Given the description of an element on the screen output the (x, y) to click on. 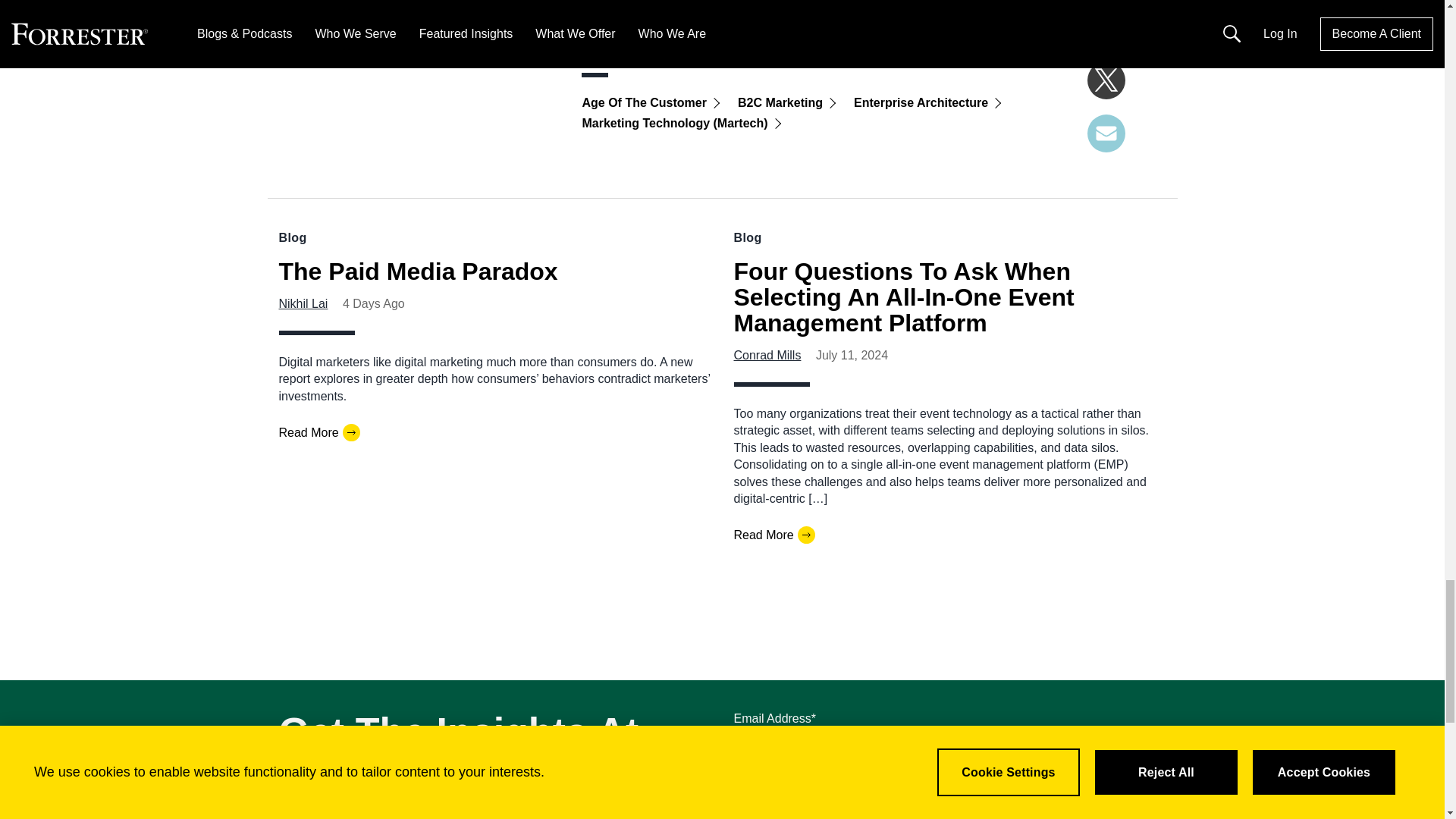
Conrad Mills (767, 354)
Nikhil Lai (304, 303)
